Given the description of an element on the screen output the (x, y) to click on. 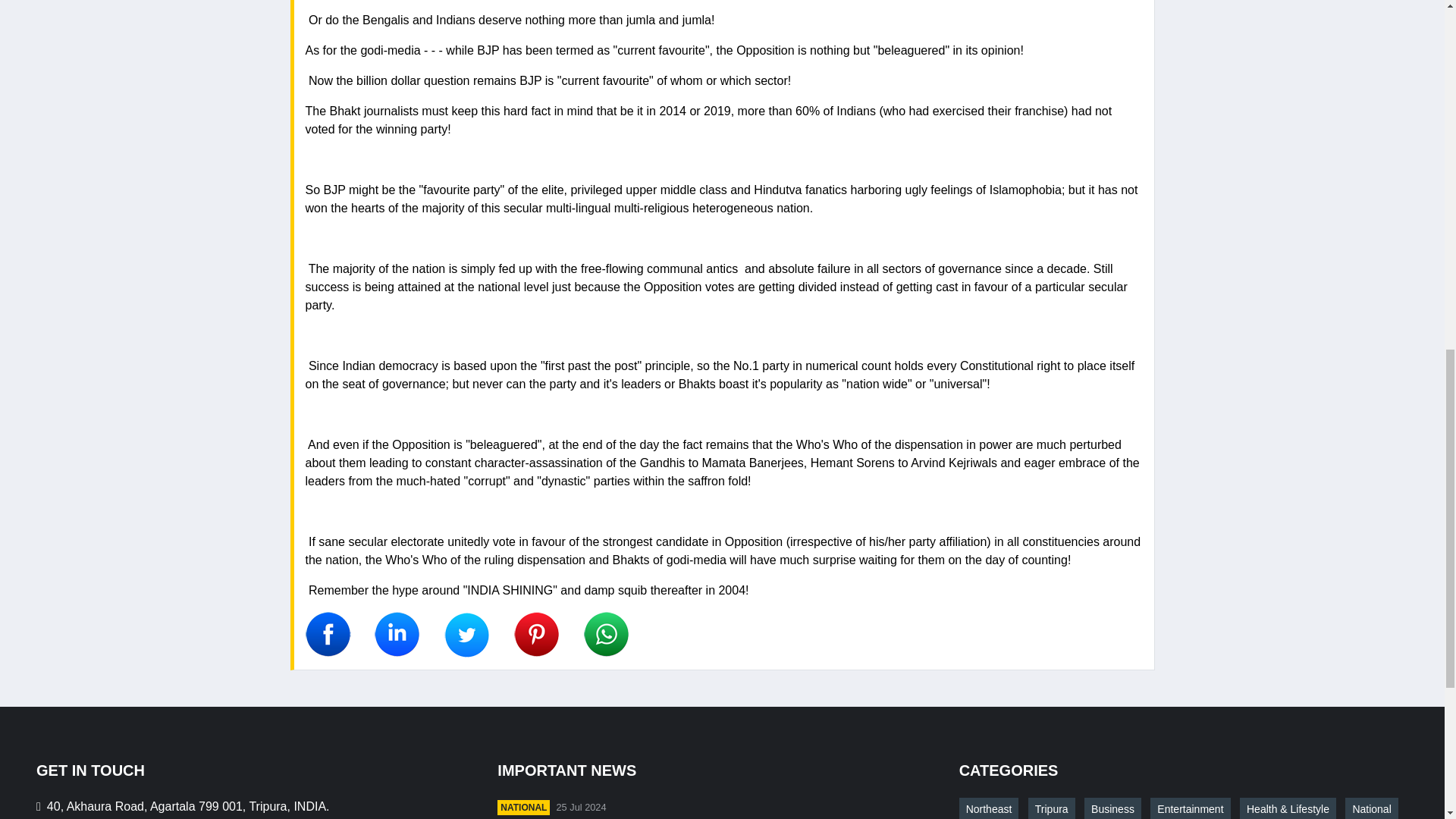
NATIONAL (523, 807)
